Given the description of an element on the screen output the (x, y) to click on. 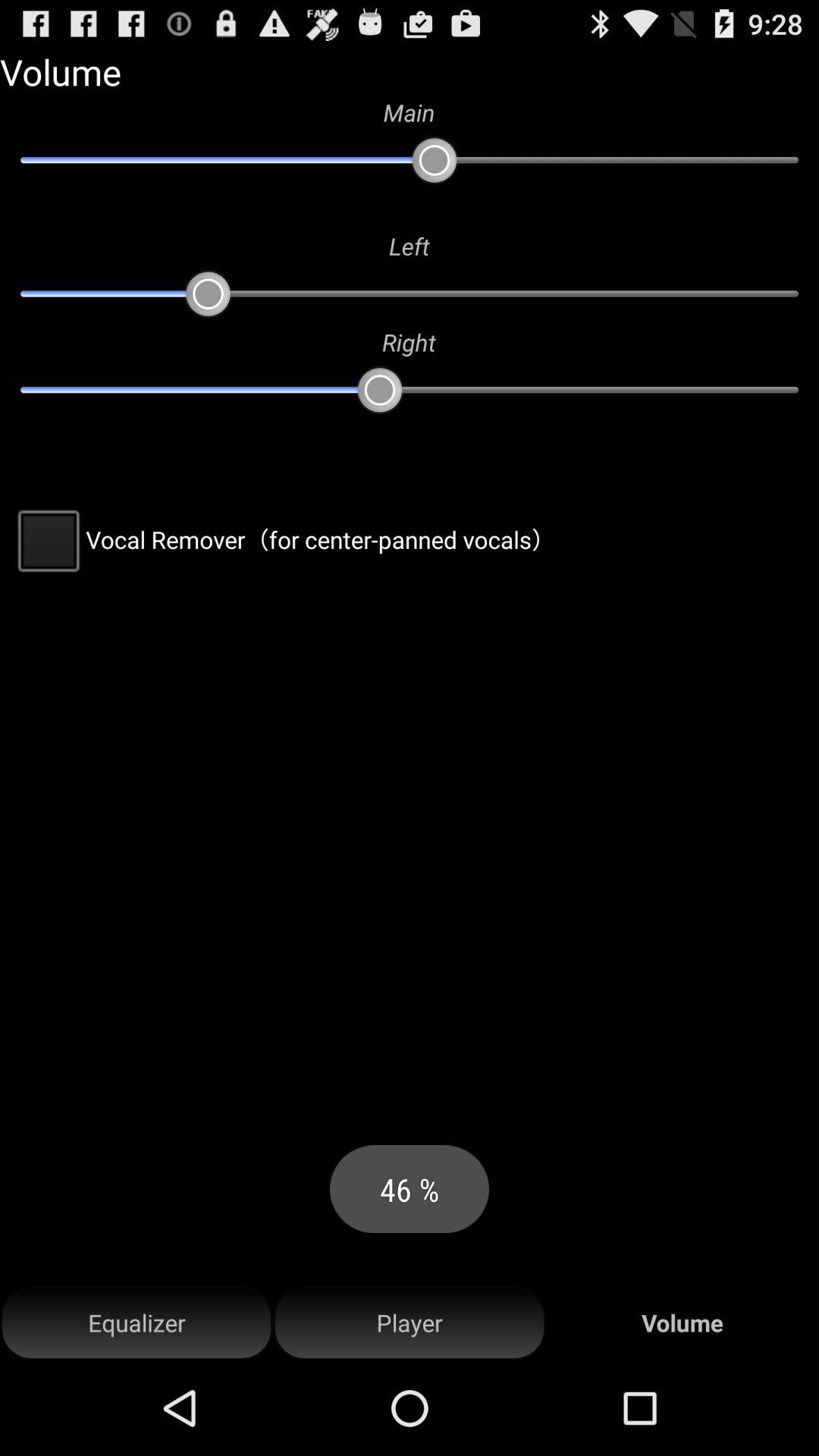
turn off the icon next to equalizer button (409, 1323)
